Given the description of an element on the screen output the (x, y) to click on. 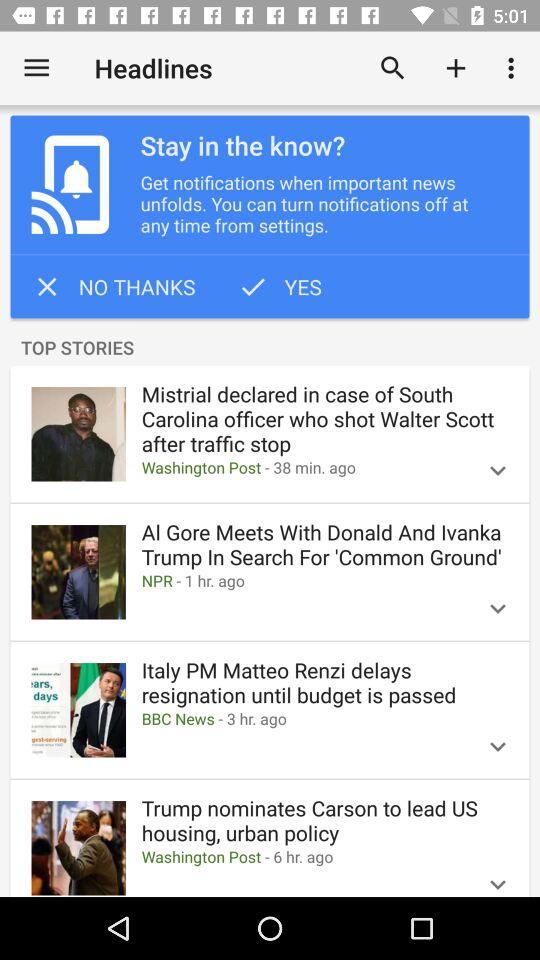
swipe to npr 1 hr item (301, 580)
